Given the description of an element on the screen output the (x, y) to click on. 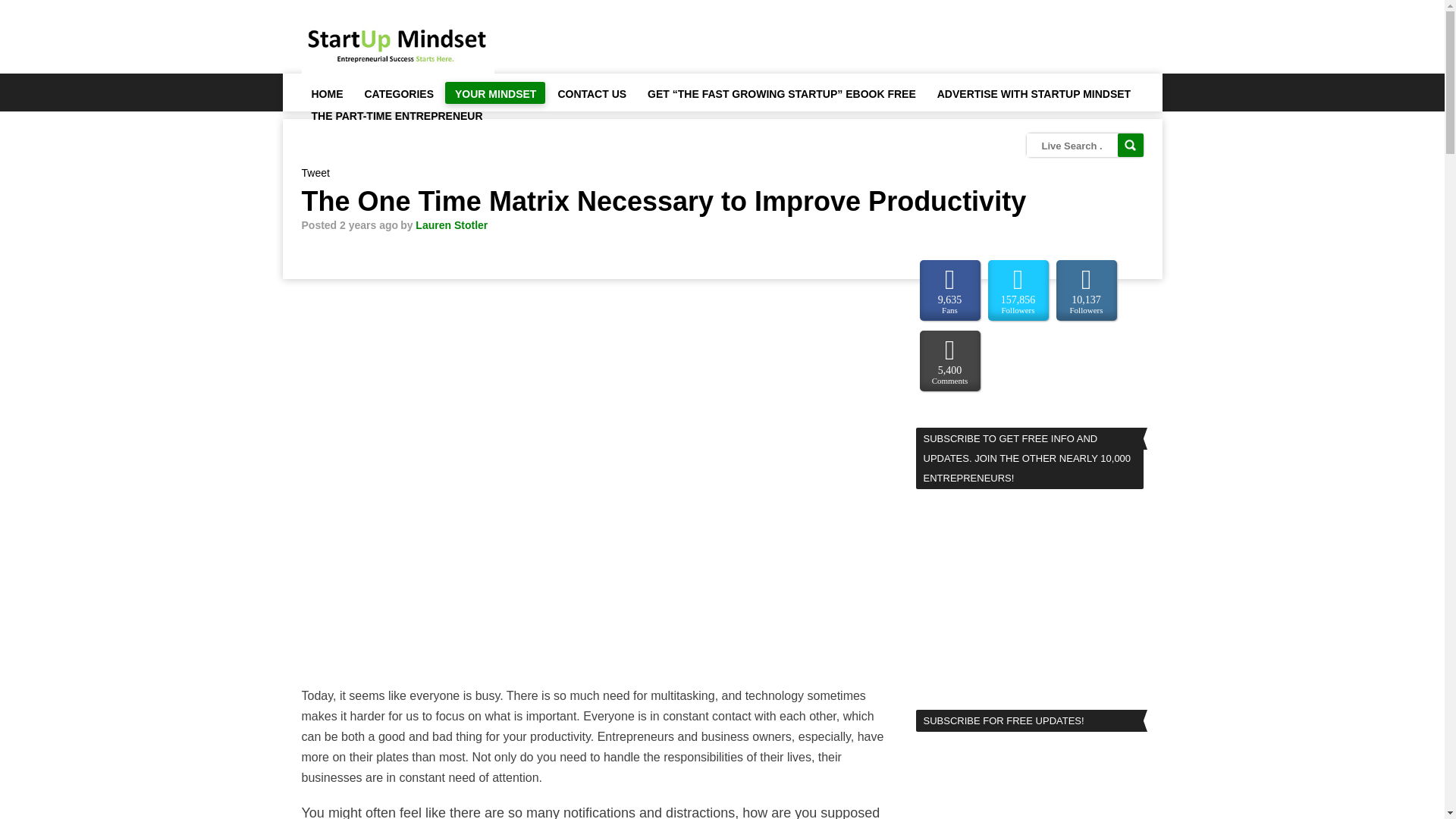
HOME (326, 92)
ADVERTISE WITH STARTUP MINDSET (1033, 92)
Posts by Lauren Stotler (450, 224)
THE PART-TIME ENTREPRENEUR (396, 115)
Search (1130, 145)
YOUR MINDSET (494, 92)
CATEGORIES (399, 92)
CONTACT US (590, 92)
Take Action Now! (293, 15)
Tweet (315, 173)
Lauren Stotler (450, 224)
Search (1130, 145)
